Given the description of an element on the screen output the (x, y) to click on. 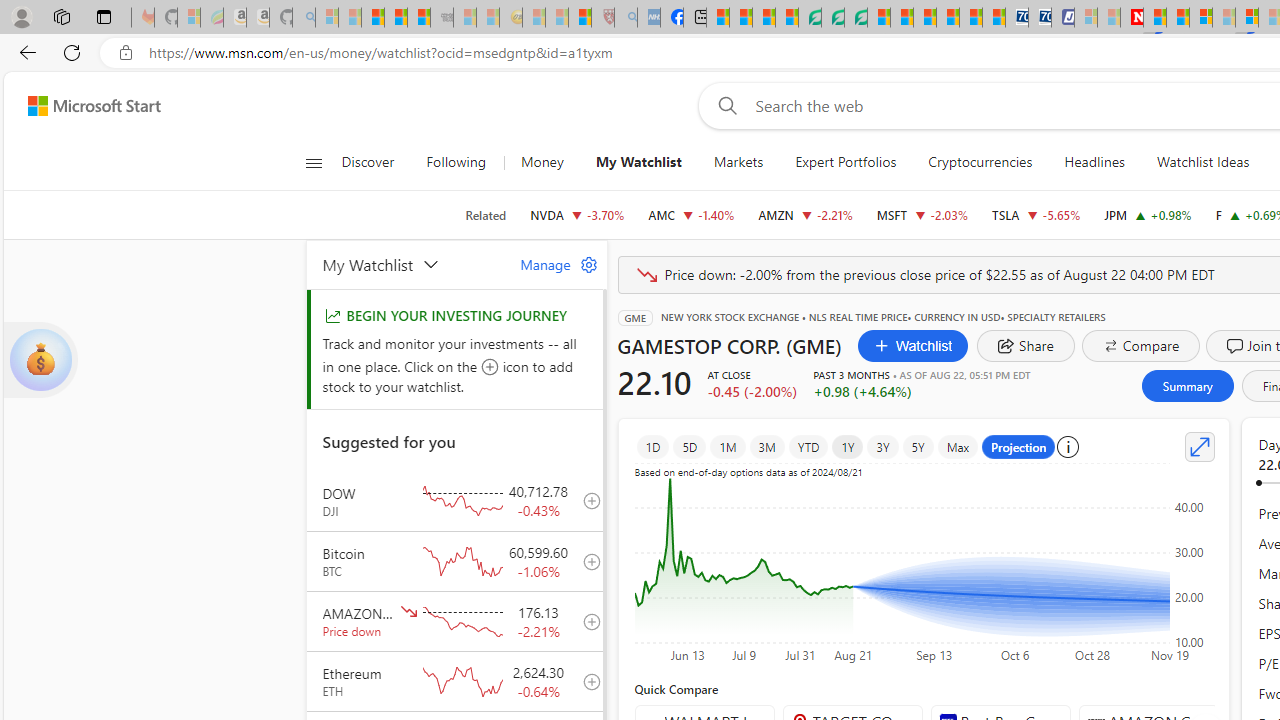
Markets (738, 162)
Max (957, 446)
Cryptocurrencies (980, 162)
Terms of Use Agreement (832, 17)
Class: recharts-surface (923, 567)
